Given the description of an element on the screen output the (x, y) to click on. 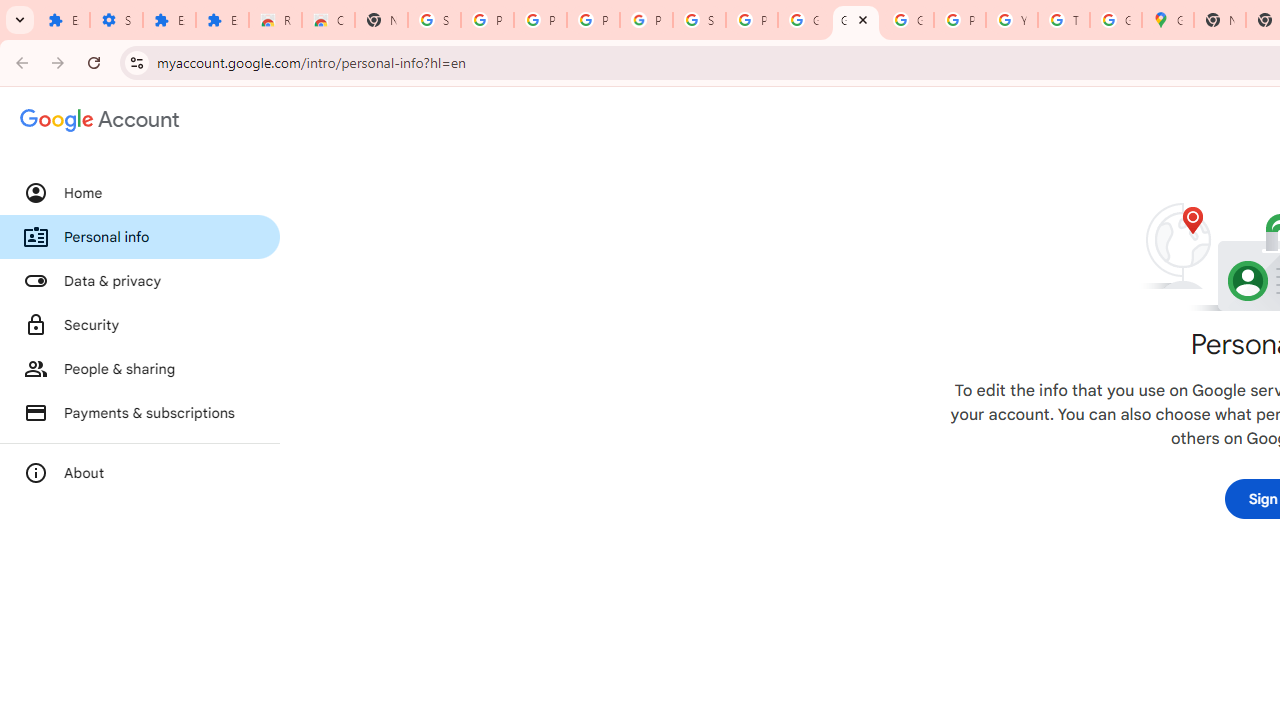
Security (140, 325)
Google Maps (1167, 20)
Sign in - Google Accounts (434, 20)
Reviews: Helix Fruit Jump Arcade Game (275, 20)
